Given the description of an element on the screen output the (x, y) to click on. 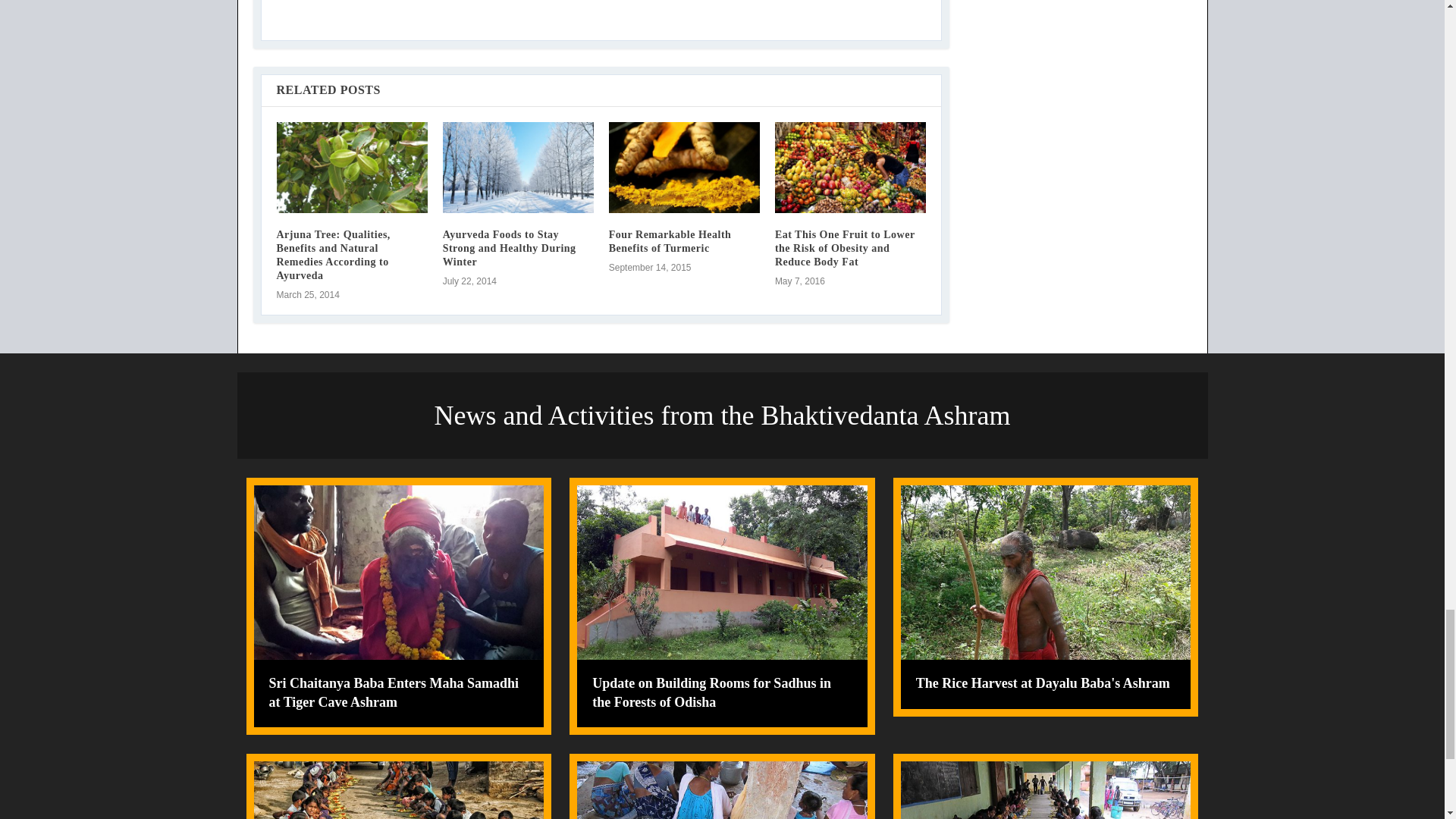
Ayurveda Foods to Stay Strong and Healthy During Winter (518, 167)
Four Remarkable Health Benefits of Turmeric (684, 167)
